Given the description of an element on the screen output the (x, y) to click on. 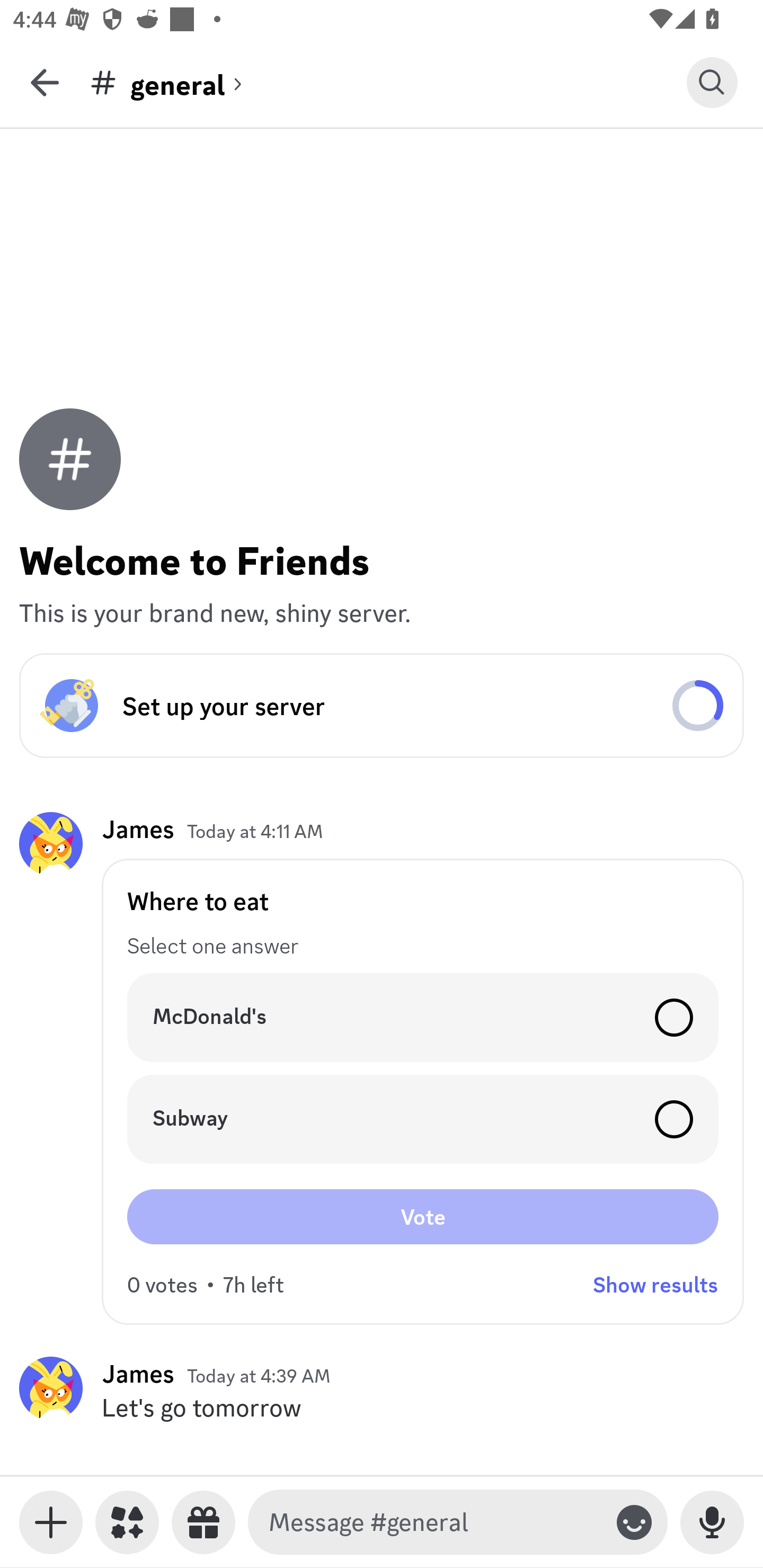
general (channel) general general (channel) (387, 82)
Back (44, 82)
Search (711, 82)
Set up your server (381, 705)
James (137, 829)
McDonald's (422, 1017)
Subway (422, 1118)
Vote (422, 1216)
0 votes  •  7h left (205, 1284)
Show results (655, 1284)
James (137, 1373)
Message #general Toggle emoji keyboard (457, 1522)
Toggle media keyboard (50, 1522)
Apps (126, 1522)
Send a gift (203, 1522)
Record Voice Message (711, 1522)
